Given the description of an element on the screen output the (x, y) to click on. 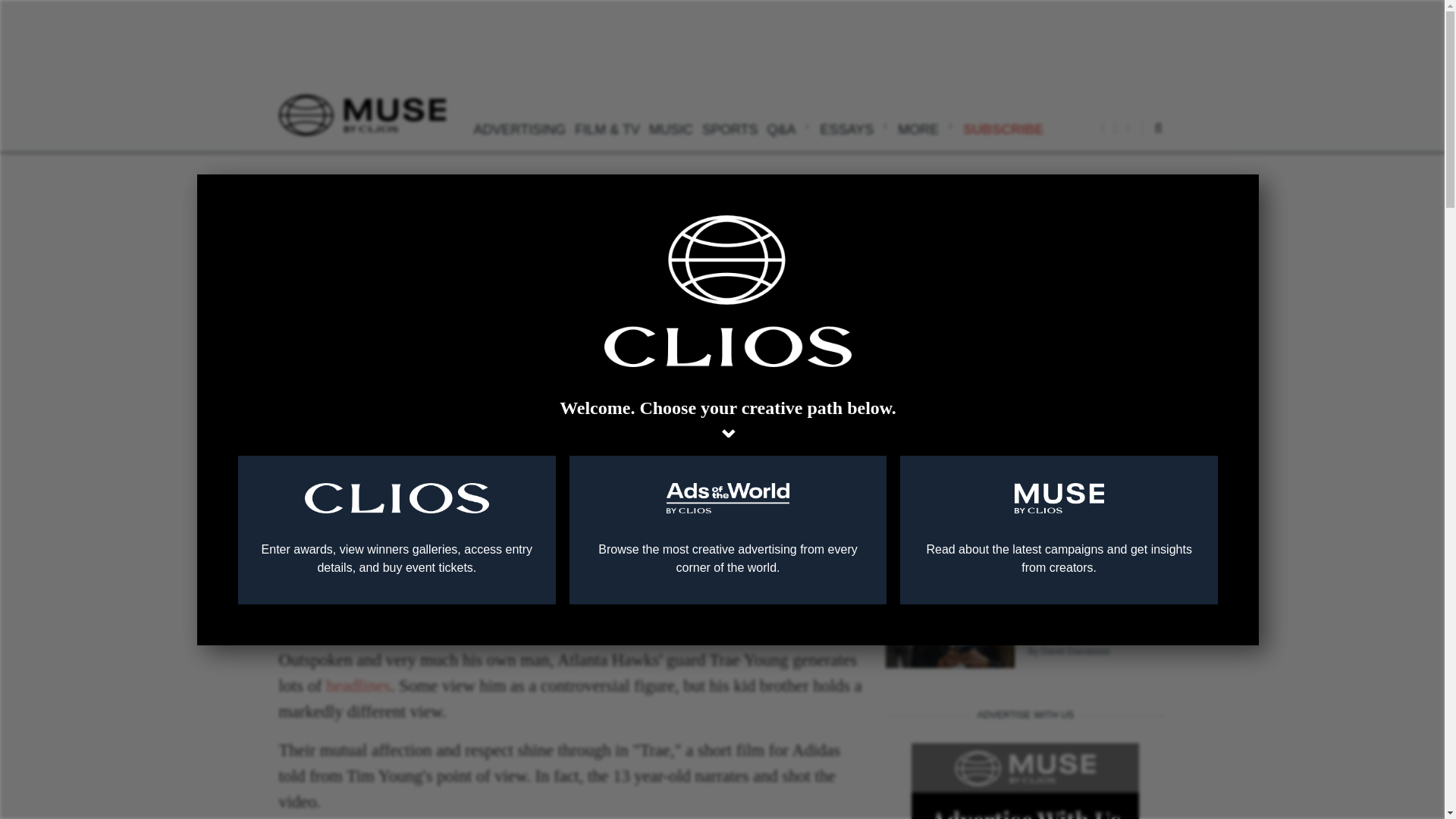
SPORTS (729, 126)
ADVERTISING (519, 126)
Go (1118, 174)
SUBSCRIBE (1002, 126)
MUSIC (670, 126)
MORE (925, 126)
ESSAYS (854, 126)
